Given the description of an element on the screen output the (x, y) to click on. 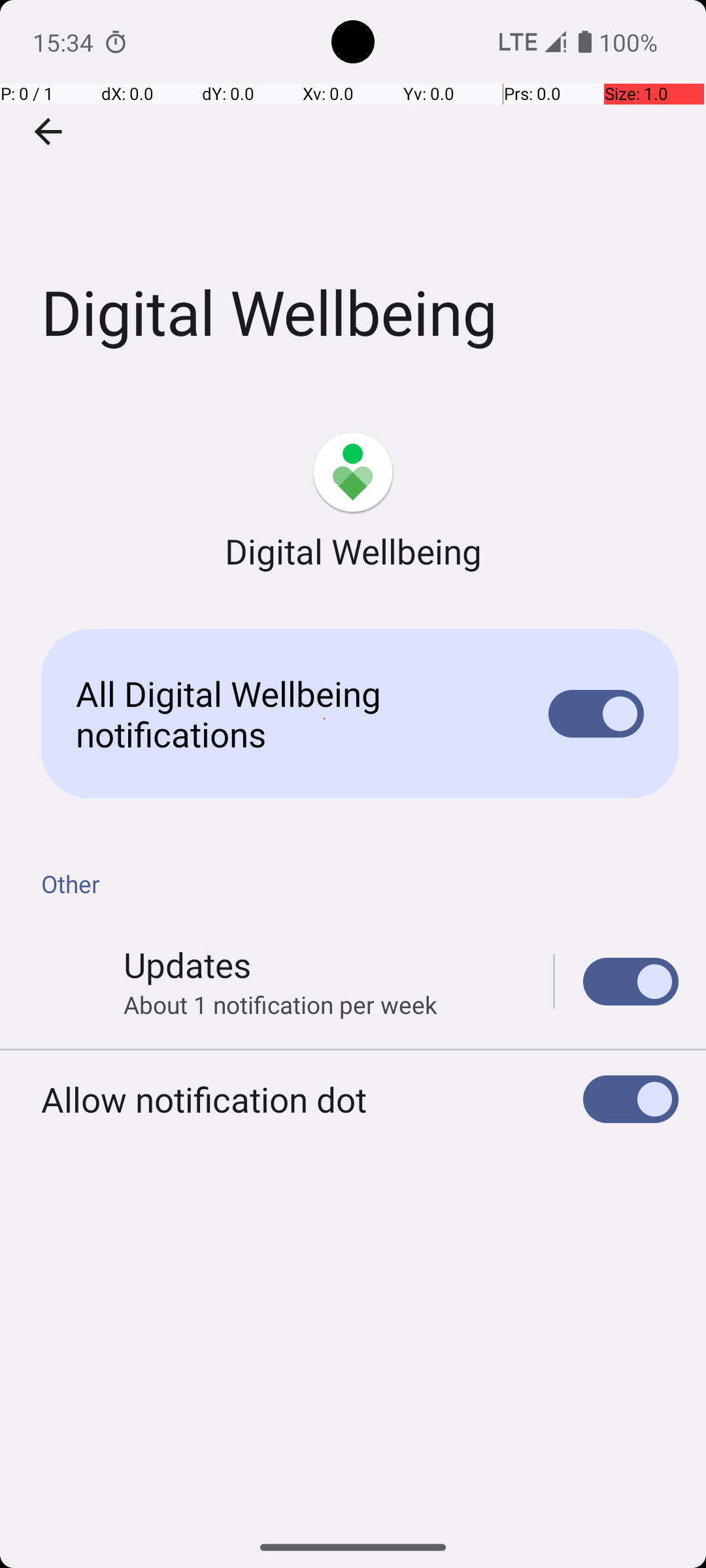
Digital Wellbeing Element type: android.widget.FrameLayout (353, 195)
All Digital Wellbeing notifications Element type: android.widget.TextView (291, 713)
Updates Element type: android.widget.TextView (187, 964)
About 1 notification per week Element type: android.widget.TextView (280, 1004)
